Given the description of an element on the screen output the (x, y) to click on. 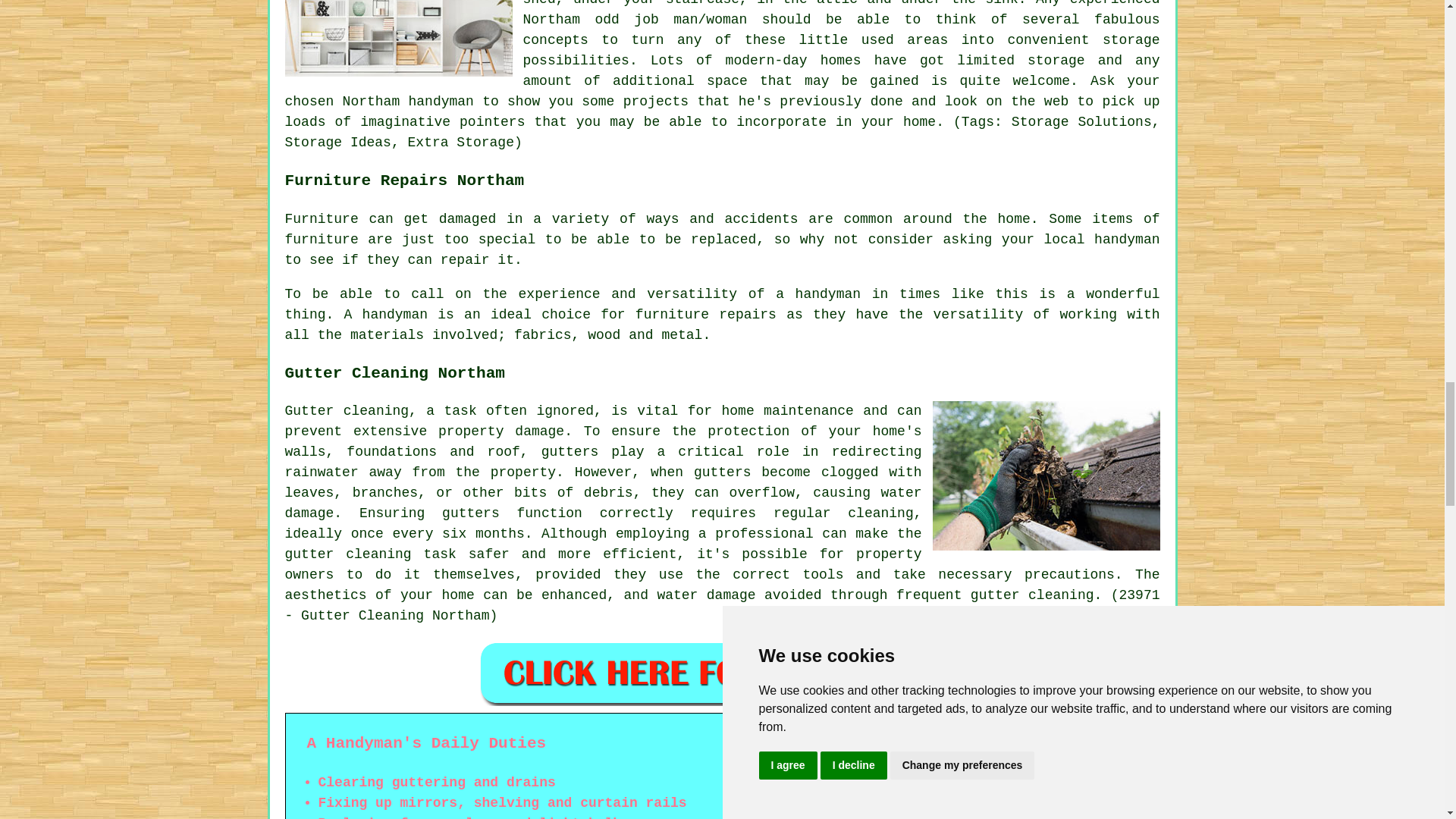
Gutter Cleaning Northam (1046, 475)
Handyman Storage Solutions Northam Devon (398, 38)
